Given the description of an element on the screen output the (x, y) to click on. 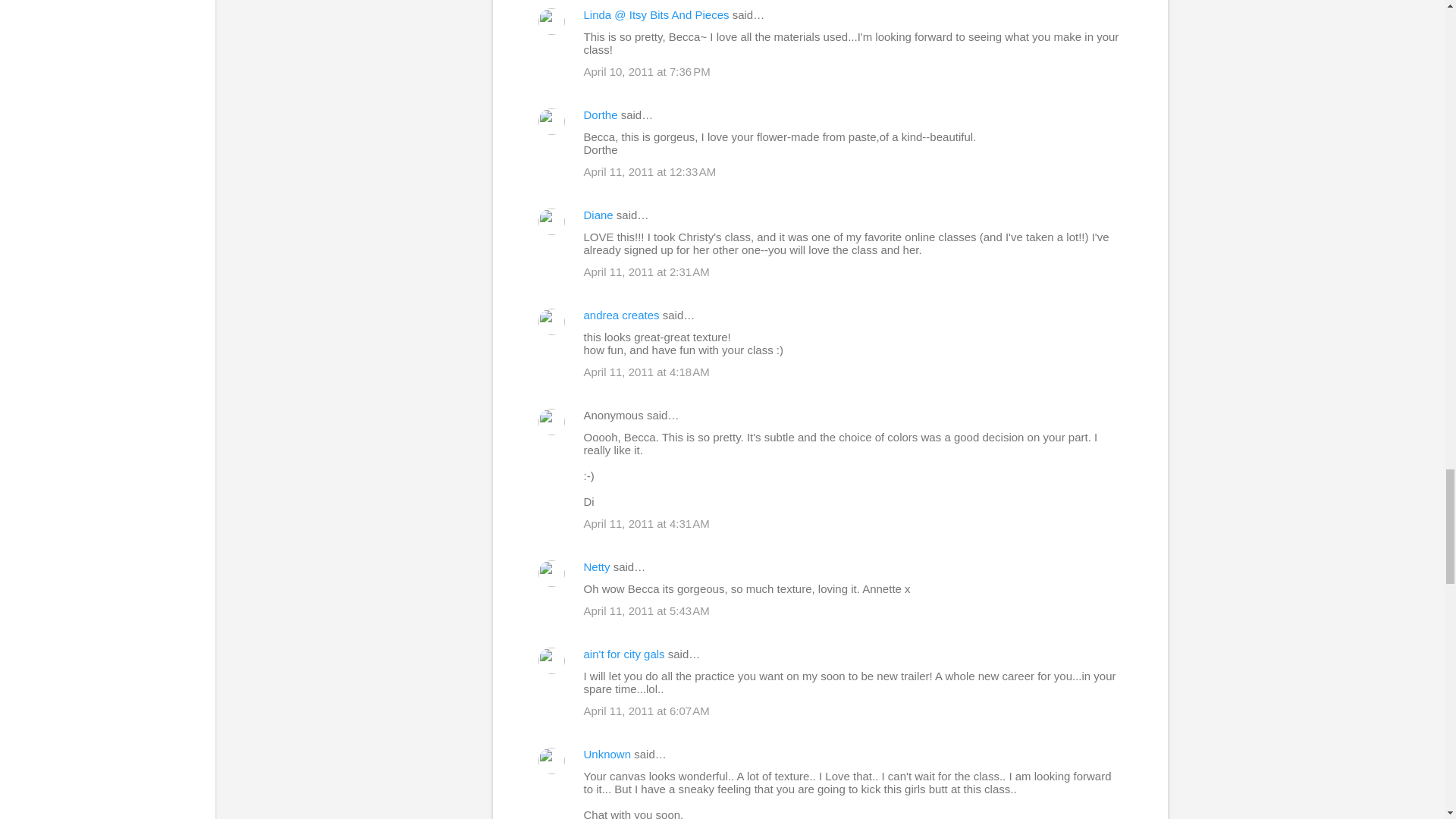
Dorthe (600, 114)
andrea creates (621, 314)
Diane (597, 214)
